Given the description of an element on the screen output the (x, y) to click on. 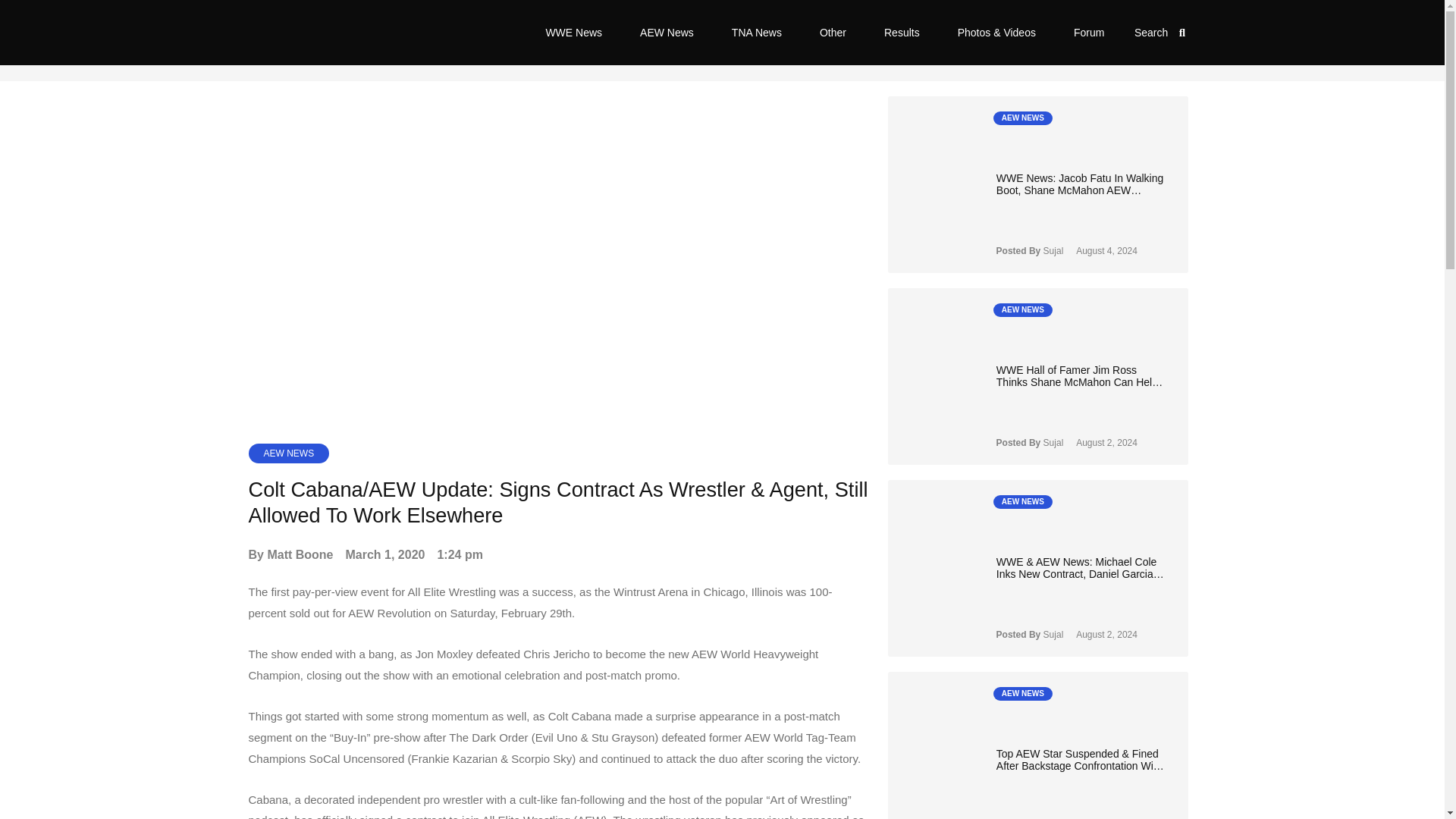
Other (832, 32)
AEW News (667, 32)
WWE News (573, 32)
By Matt Boone (290, 554)
Results (901, 32)
March 1, 2020 (385, 554)
TNA News (756, 32)
Forum (1088, 32)
AEW NEWS (289, 453)
